Given the description of an element on the screen output the (x, y) to click on. 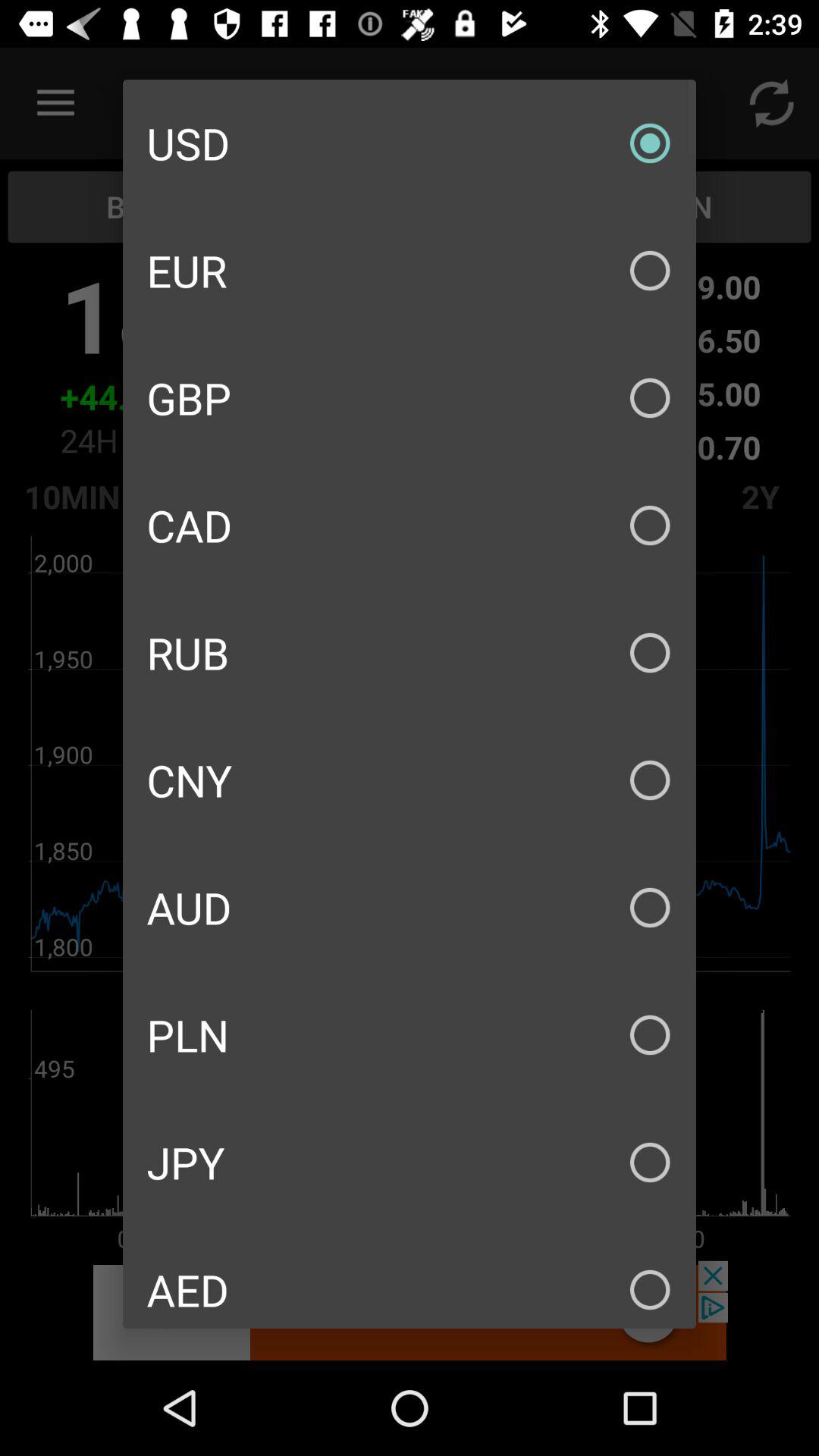
launch item above aed item (409, 1162)
